Given the description of an element on the screen output the (x, y) to click on. 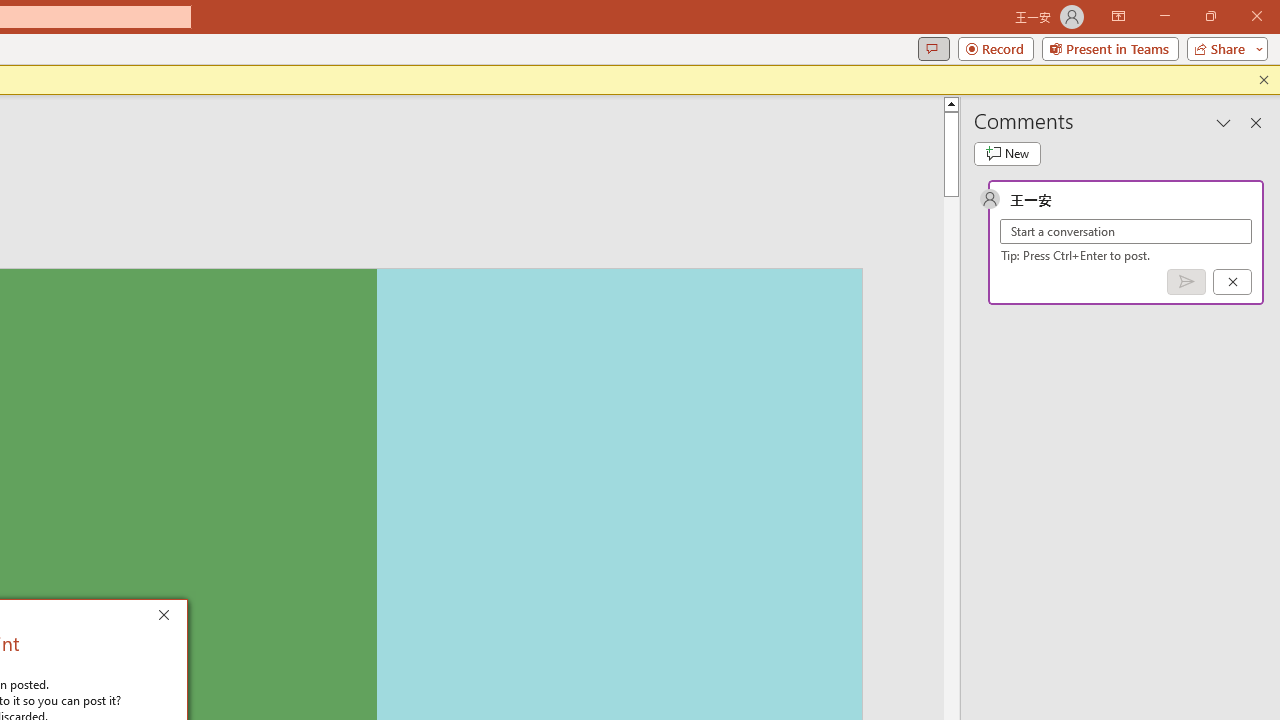
Post comment (Ctrl + Enter) (1186, 282)
